Given the description of an element on the screen output the (x, y) to click on. 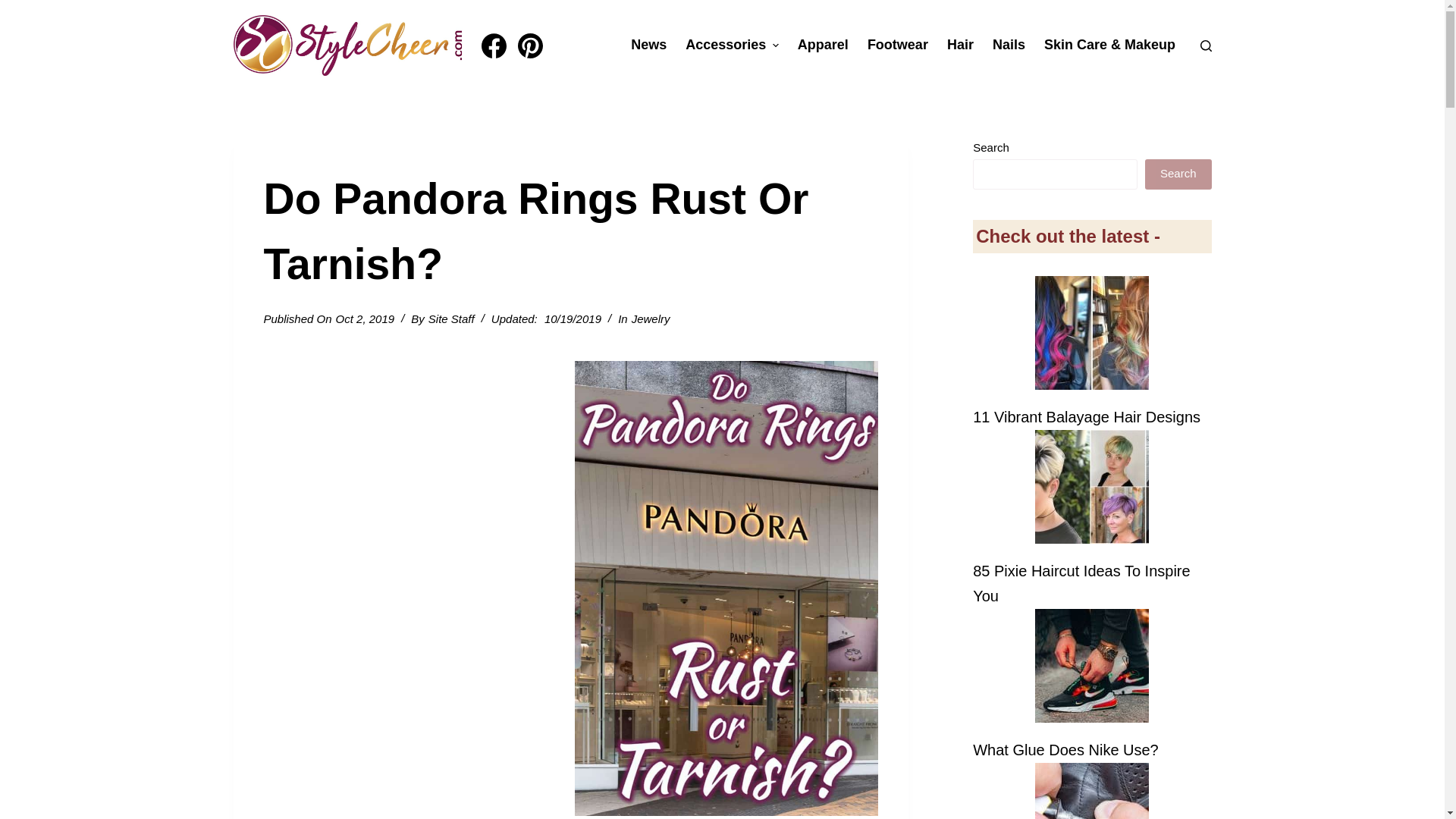
Hair (959, 45)
Jewelry (650, 318)
Skip to content (15, 7)
Do Pandora Rings Rust or Tarnish? (570, 231)
Apparel (822, 45)
News (649, 45)
Footwear (897, 45)
Site Staff (451, 318)
Accessories (733, 45)
Nails (1007, 45)
